Given the description of an element on the screen output the (x, y) to click on. 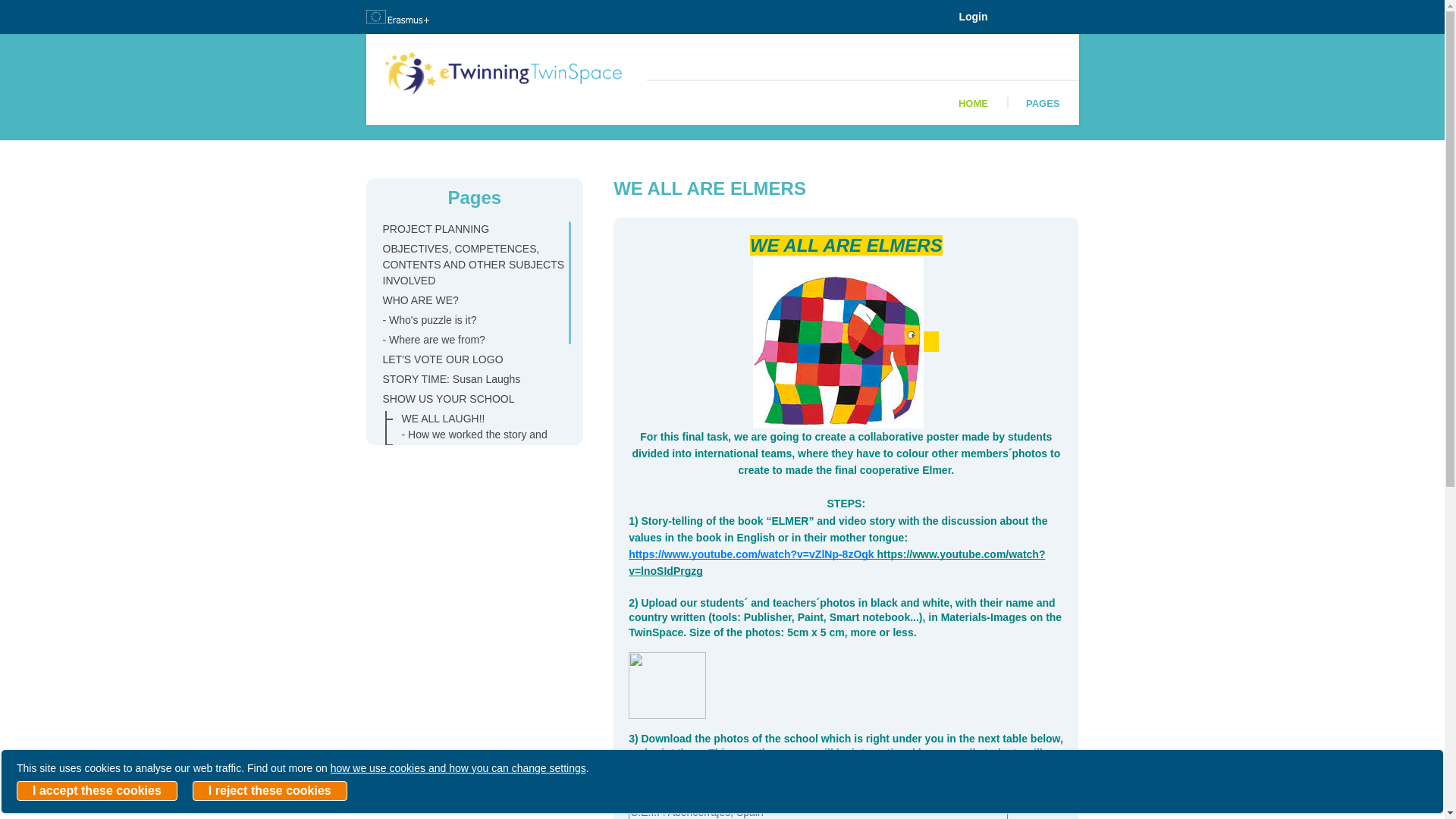
STORY TIME: Susan Laughs (468, 379)
LET'S VOTE OUR LOGO (468, 359)
PAGES (1042, 103)
SHOW US YOUR SCHOOL (468, 399)
WHO ARE WE? (468, 300)
- Where are we from? (468, 340)
HOME (973, 103)
WE ALL LAUGH!! (478, 418)
- How we worked the story and action orders (478, 442)
I accept these cookies (96, 790)
